Given the description of an element on the screen output the (x, y) to click on. 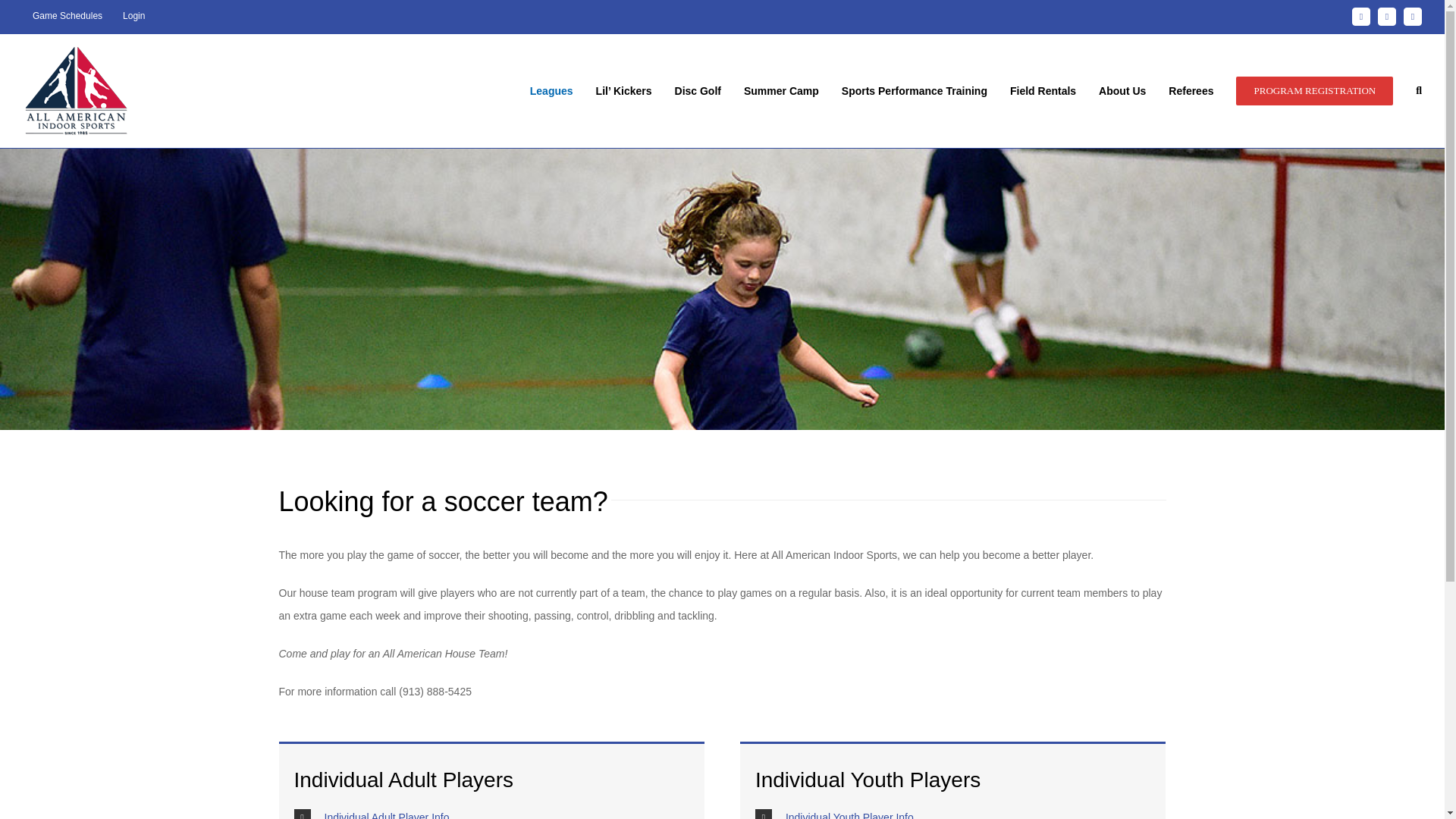
Leagues (551, 91)
PROGRAM REGISTRATION (1314, 91)
Facebook (1361, 16)
Sports Performance Training (914, 91)
Disc Golf (697, 91)
Login (133, 16)
About Us (1122, 91)
Instagram (1386, 16)
Field Rentals (1042, 91)
Summer Camp (781, 91)
Referees (1190, 91)
Game Schedules (67, 16)
LinkedIn (1412, 16)
